Given the description of an element on the screen output the (x, y) to click on. 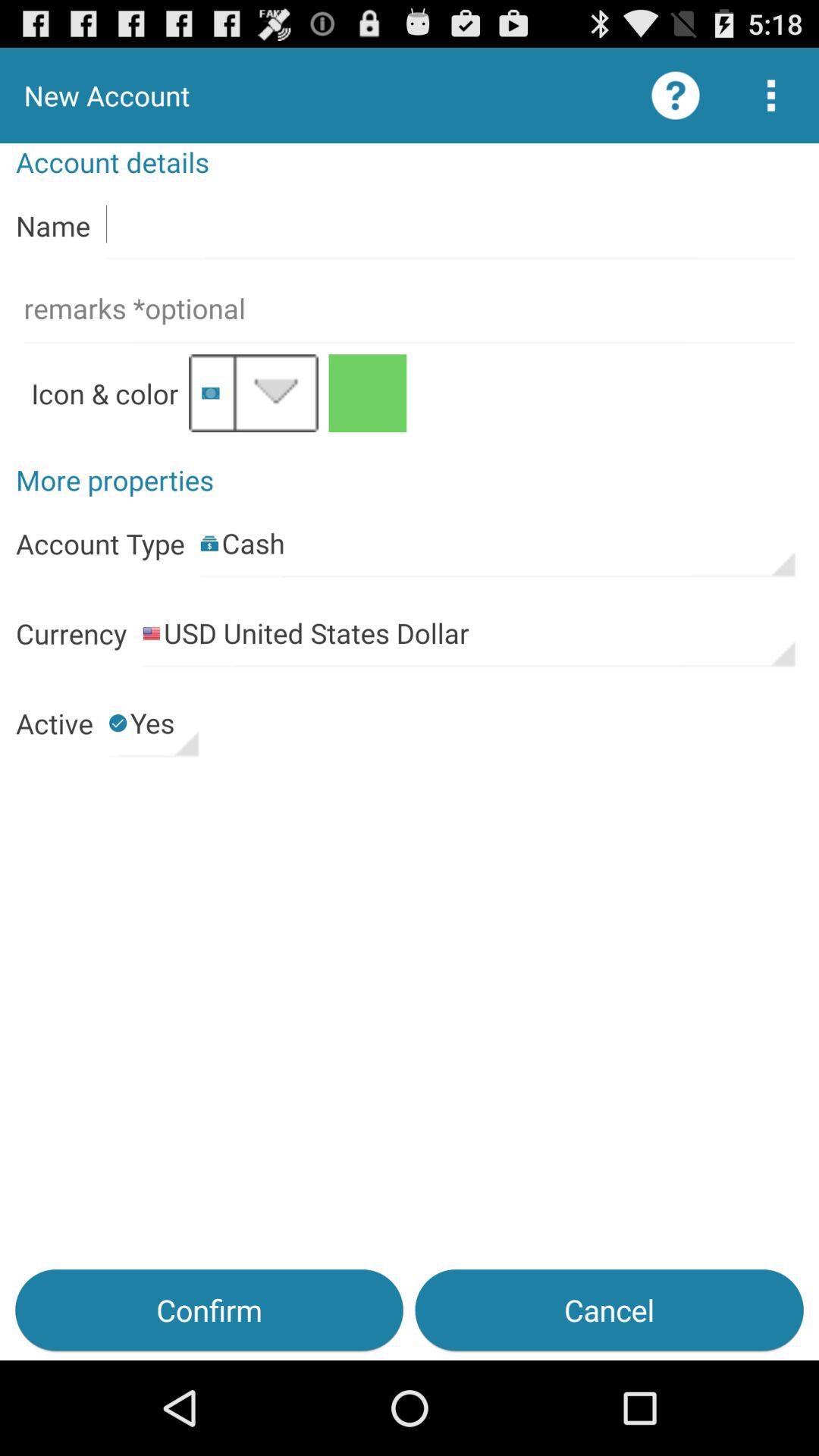
name field (450, 225)
